Given the description of an element on the screen output the (x, y) to click on. 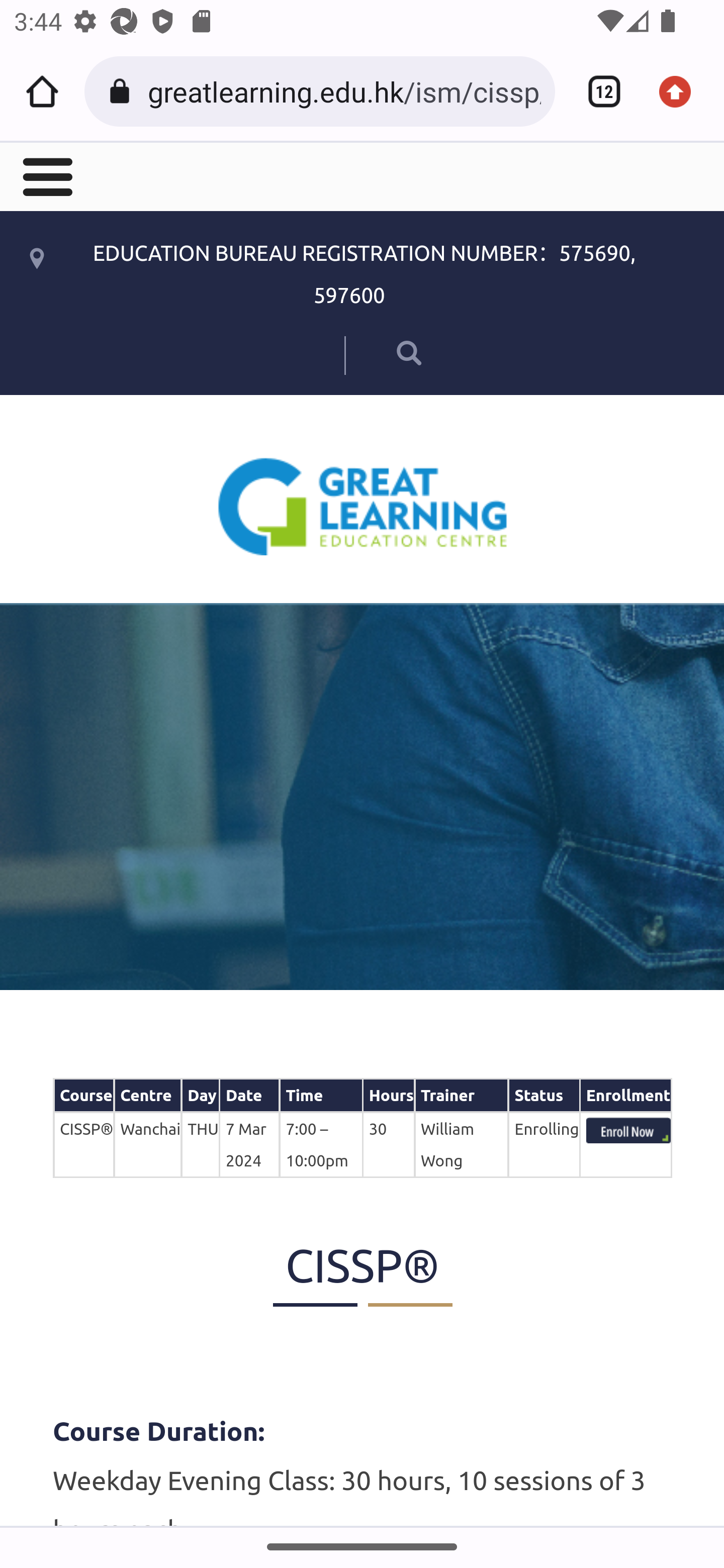
Home (42, 91)
Connection is secure (122, 91)
Switch or close tabs (597, 91)
Update available. More options (681, 91)
 (45, 175)
 (382, 351)
Welcome to Great Learning Education Centre (362, 505)
index (627, 1130)
